Given the description of an element on the screen output the (x, y) to click on. 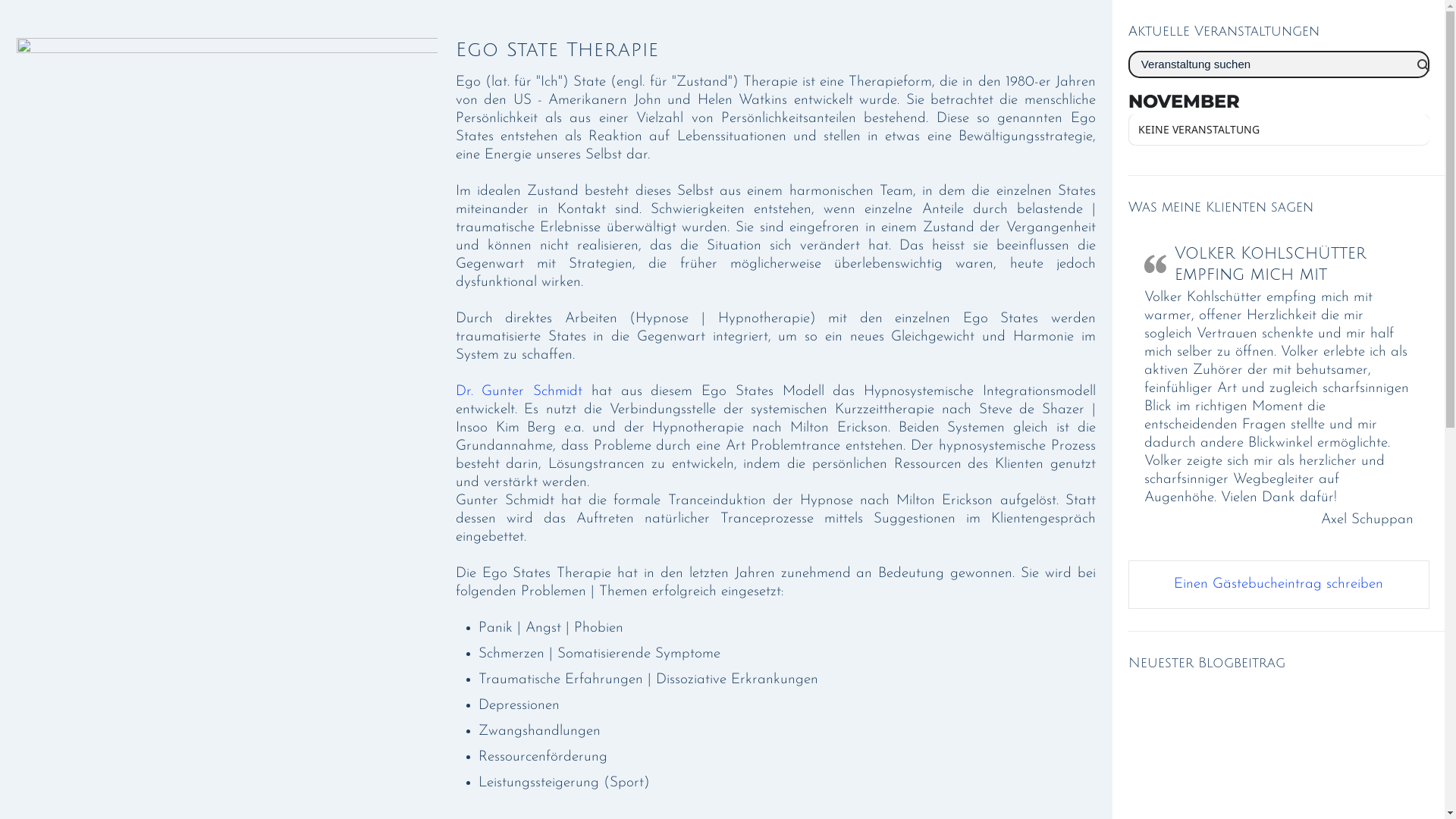
Dr. Gunter Schmidt Element type: text (518, 391)
